Given the description of an element on the screen output the (x, y) to click on. 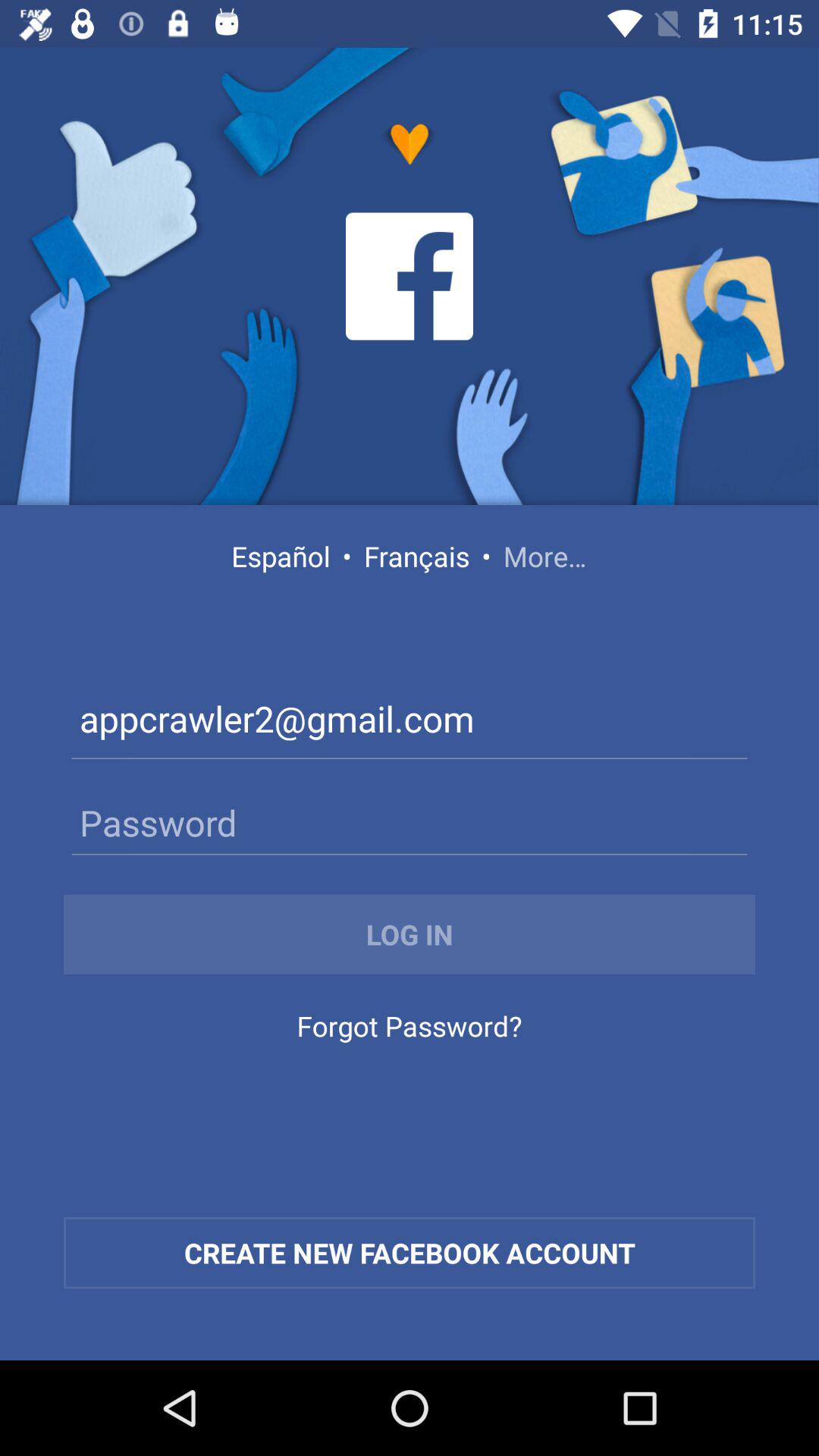
select forgot password? icon (409, 1029)
